Given the description of an element on the screen output the (x, y) to click on. 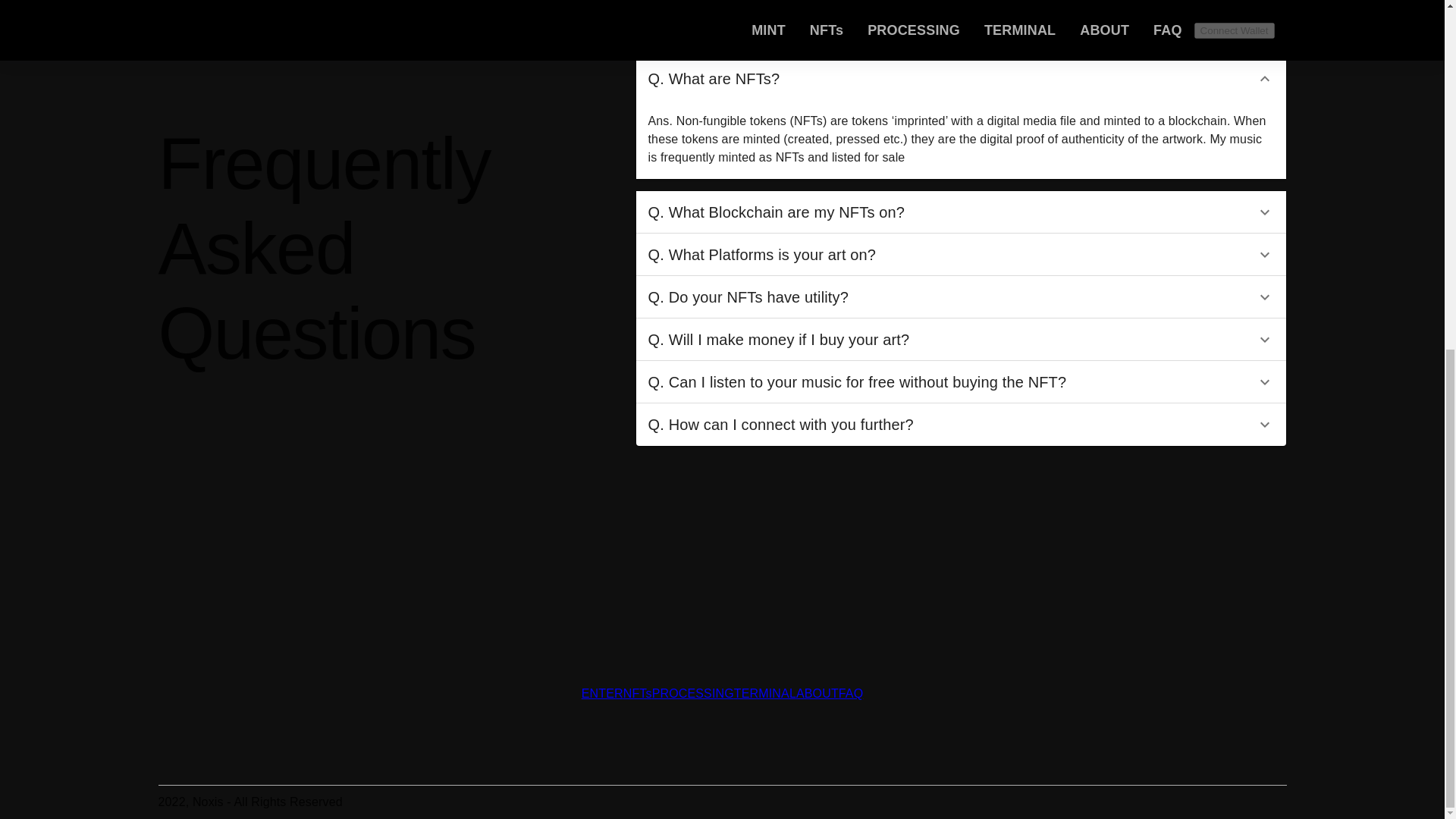
FAQ (850, 693)
ENTER (601, 693)
ABOUT (817, 693)
NFTs (637, 693)
PROCESSING (692, 693)
TERMINAL (764, 693)
